Given the description of an element on the screen output the (x, y) to click on. 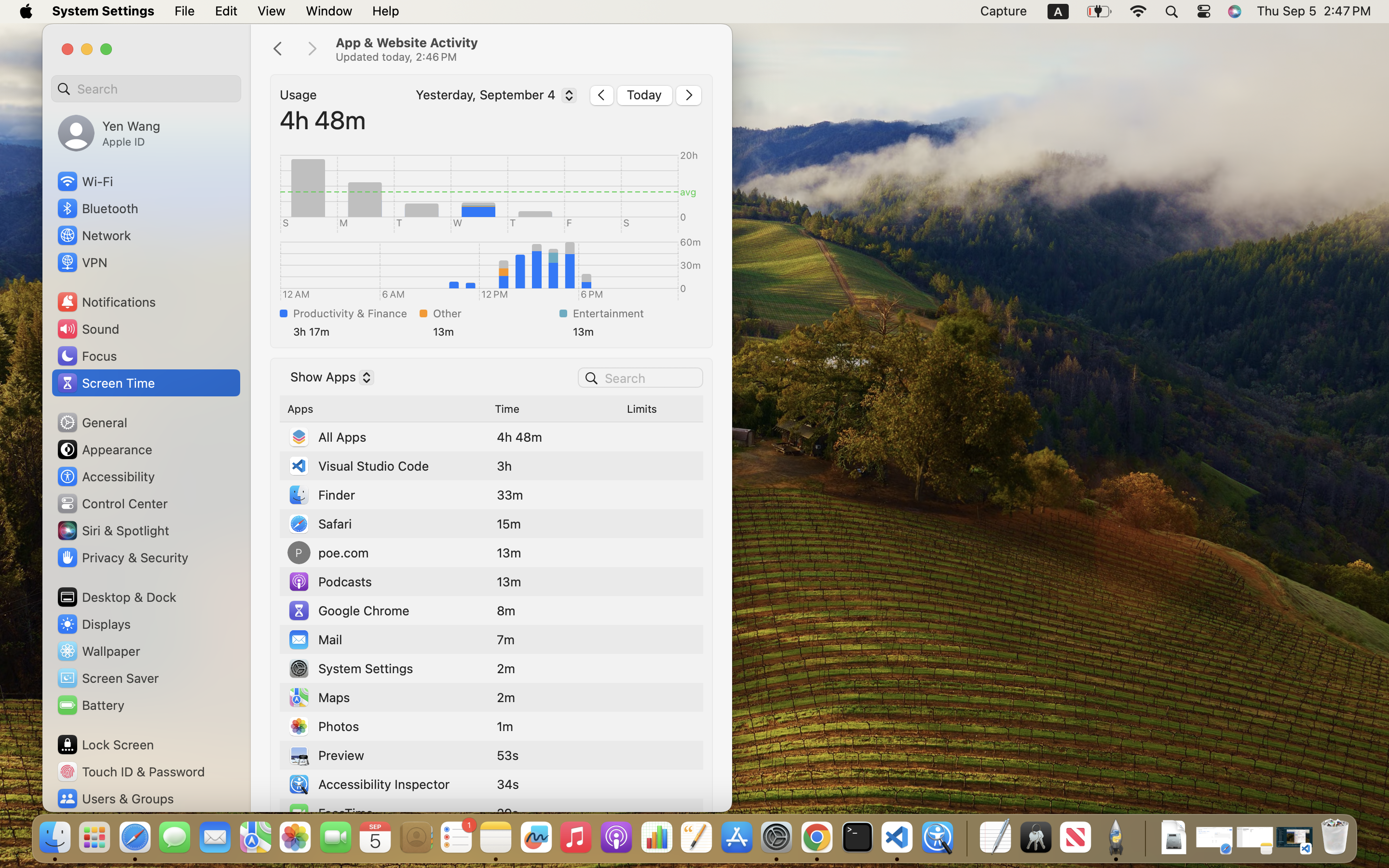
Other Element type: AXStaticText (494, 313)
Yesterday, September 4 Element type: AXPopUpButton (493, 96)
Lock Screen Element type: AXStaticText (104, 744)
Control Center Element type: AXStaticText (111, 503)
Bluetooth Element type: AXStaticText (96, 207)
